Given the description of an element on the screen output the (x, y) to click on. 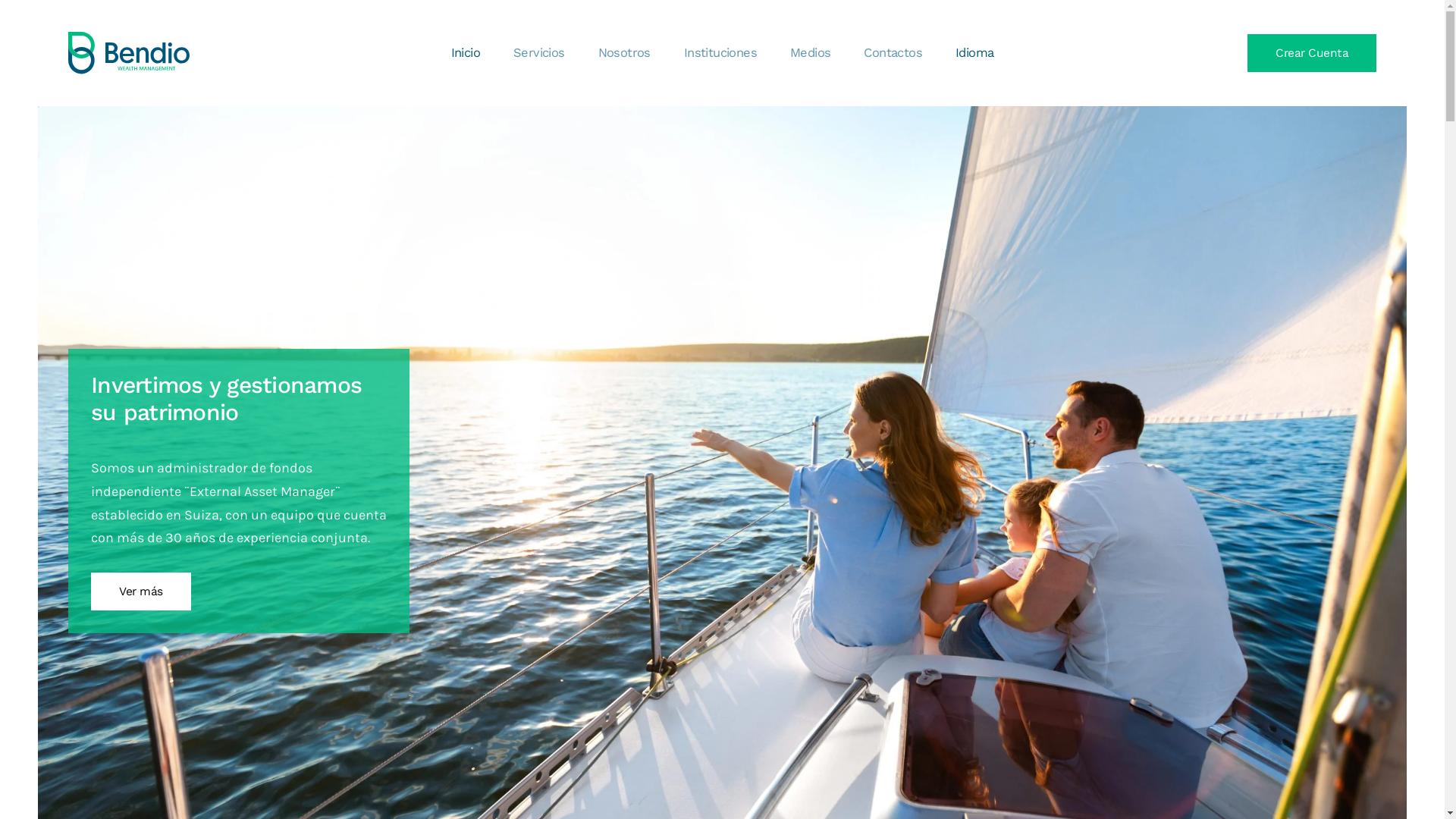
Nosotros Element type: text (624, 53)
Idioma Element type: text (974, 53)
Medios Element type: text (810, 53)
Contactos Element type: text (892, 53)
Instituciones Element type: text (720, 53)
Servicios Element type: text (538, 53)
Crear Cuenta Element type: text (1311, 53)
Inicio Element type: text (465, 53)
